Given the description of an element on the screen output the (x, y) to click on. 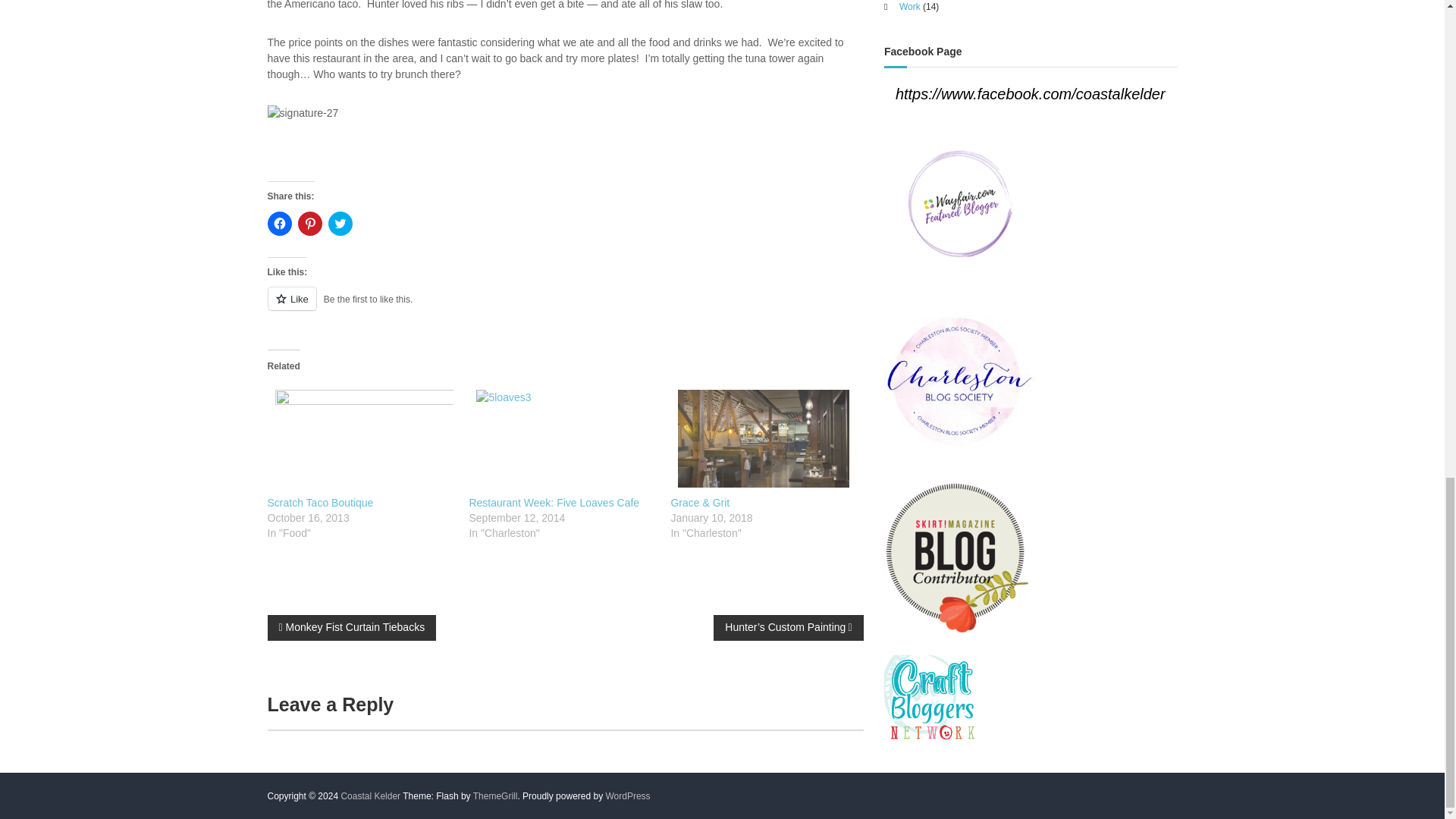
Scratch Taco Boutique (359, 438)
Scratch Taco Boutique (319, 502)
Like or Reblog (564, 307)
Click to share on Pinterest (309, 223)
Restaurant Week: Five Loaves Cafe (553, 502)
Restaurant Week: Five Loaves Cafe (561, 438)
Monkey Fist Curtain Tiebacks (350, 627)
Scratch Taco Boutique (319, 502)
Click to share on Twitter (339, 223)
Restaurant Week: Five Loaves Cafe (553, 502)
Click to share on Facebook (278, 223)
